Given the description of an element on the screen output the (x, y) to click on. 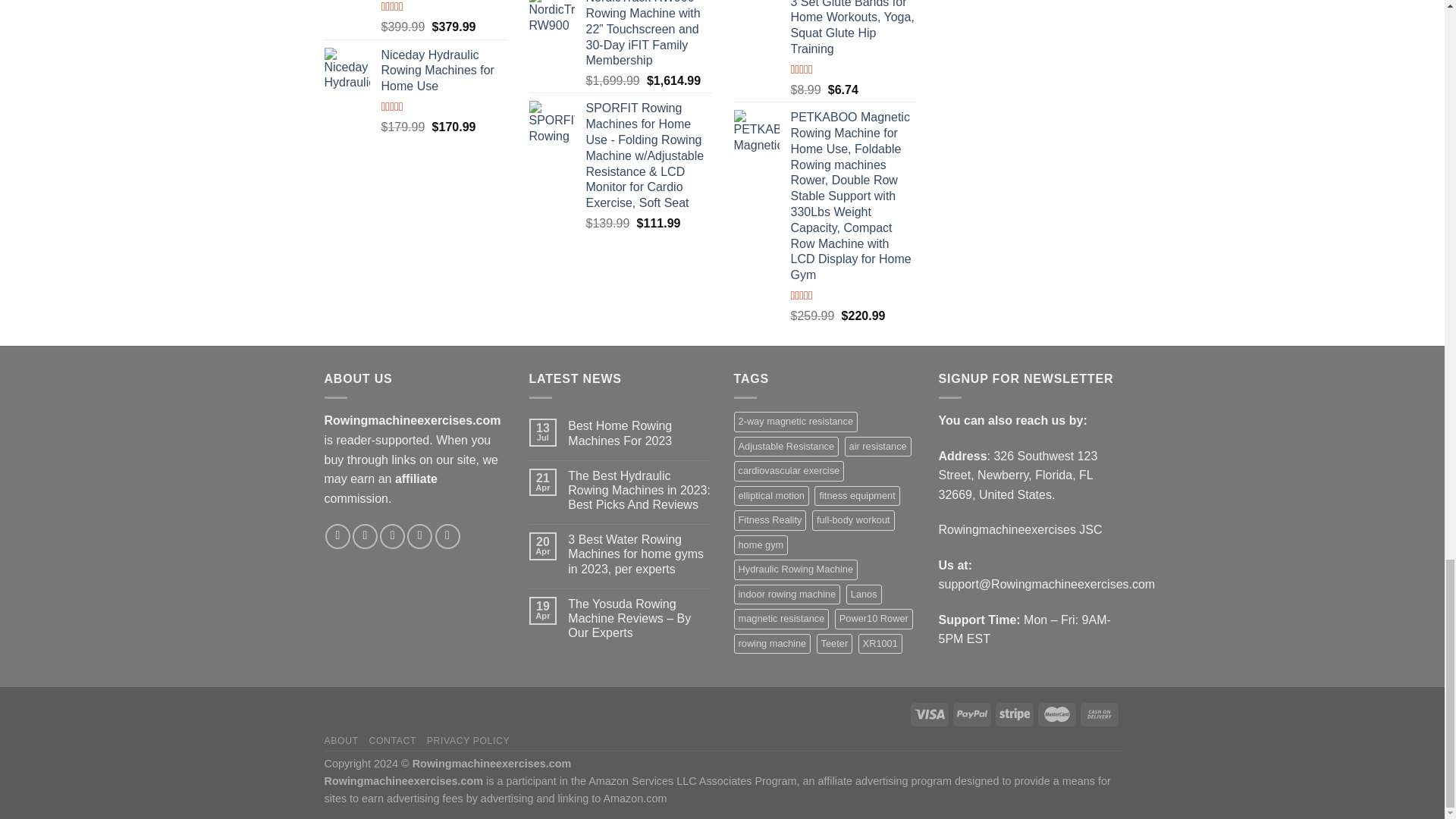
Best Home Rowing Machines For 2023 (638, 432)
